Given the description of an element on the screen output the (x, y) to click on. 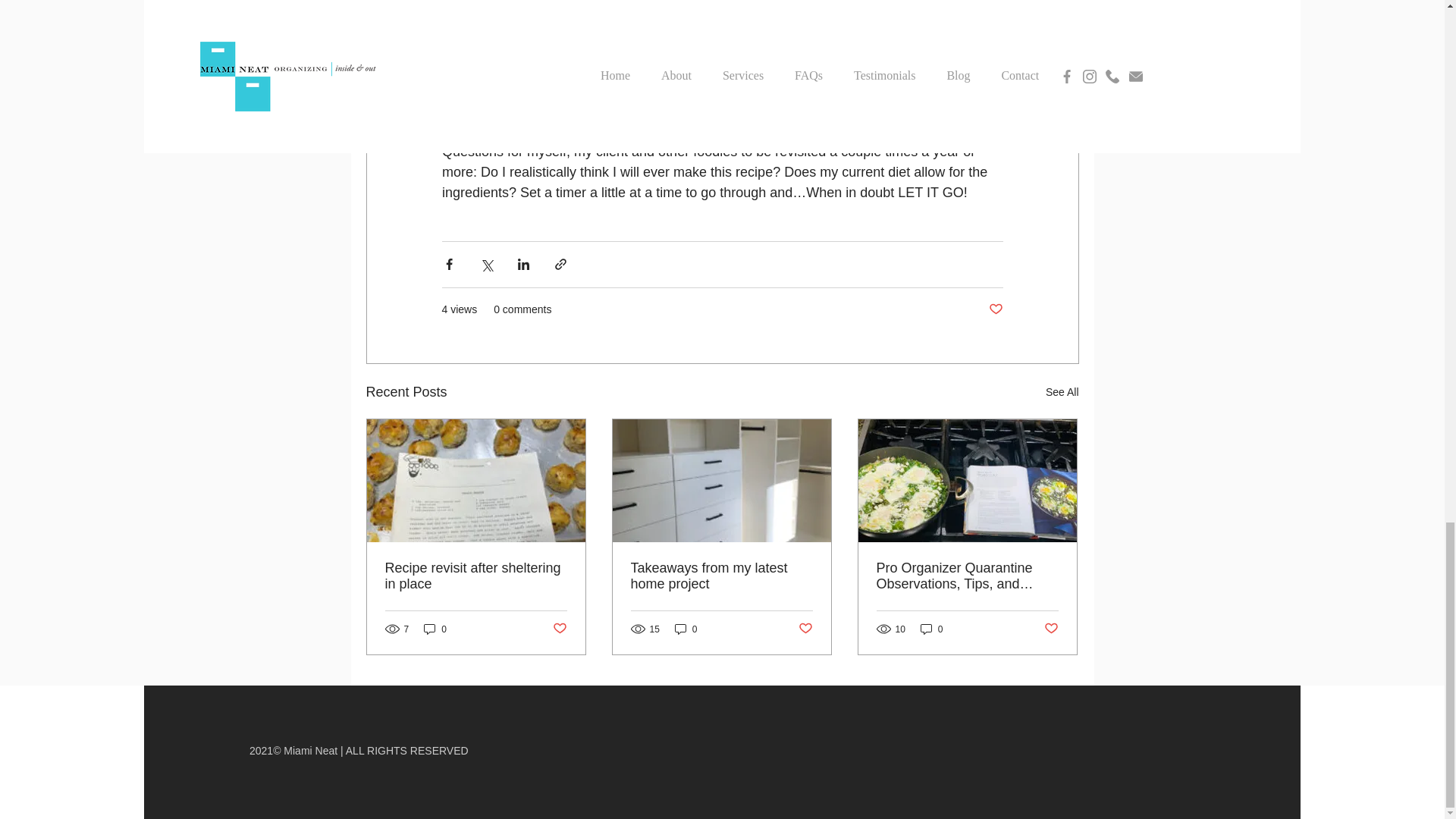
Takeaways from my latest home project (721, 576)
0 (685, 628)
Post not marked as liked (995, 309)
See All (1061, 392)
Recipe revisit after sheltering in place (476, 576)
Post not marked as liked (558, 628)
0 (435, 628)
